Given the description of an element on the screen output the (x, y) to click on. 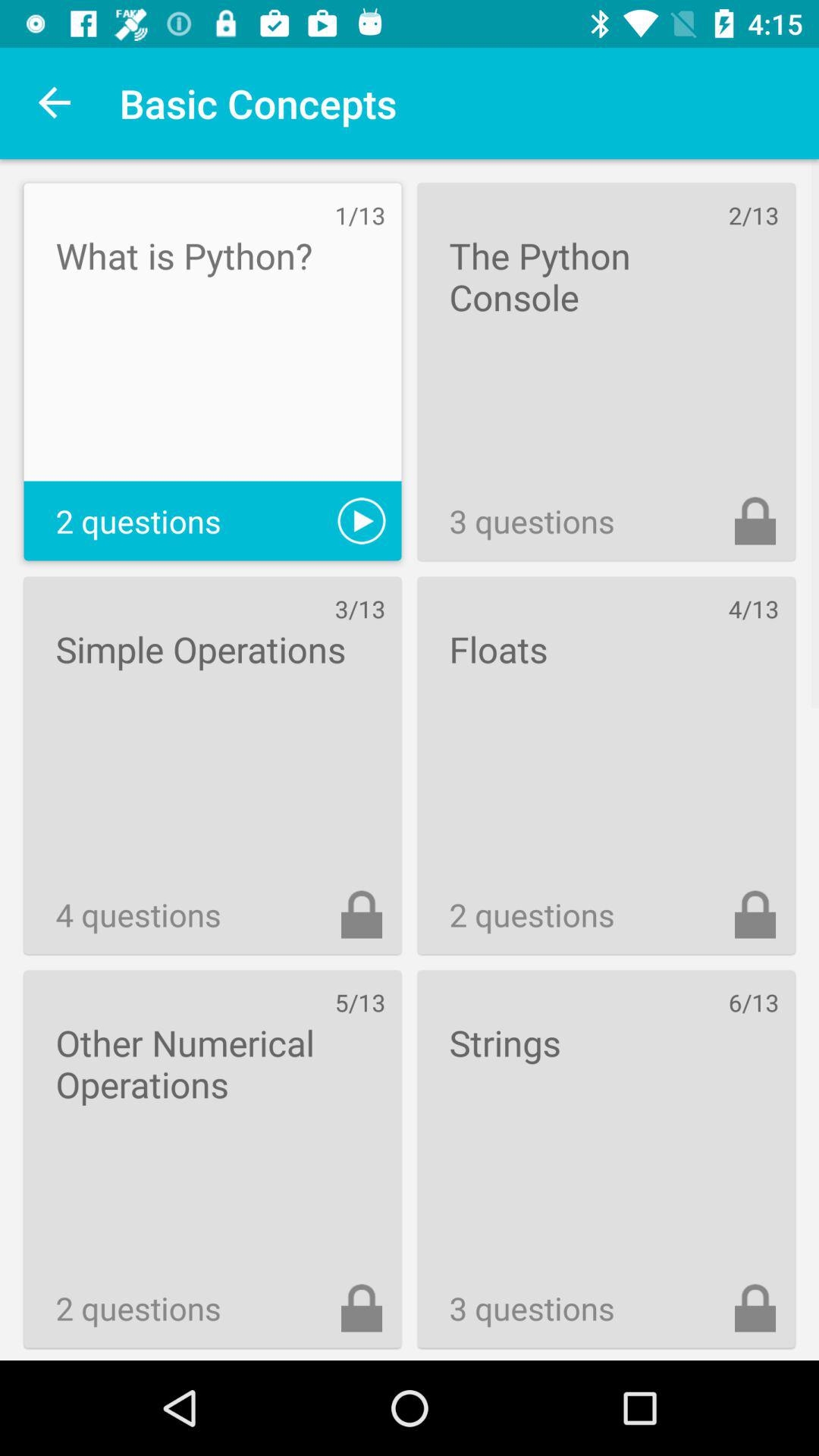
tap the icon to the left of basic concepts item (55, 103)
